Given the description of an element on the screen output the (x, y) to click on. 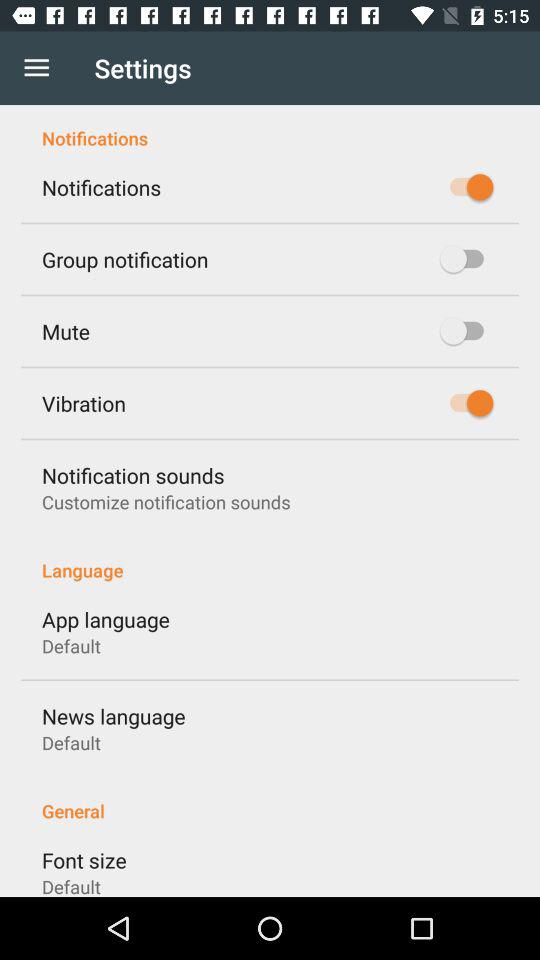
turn on the icon above the vibration icon (66, 331)
